Given the description of an element on the screen output the (x, y) to click on. 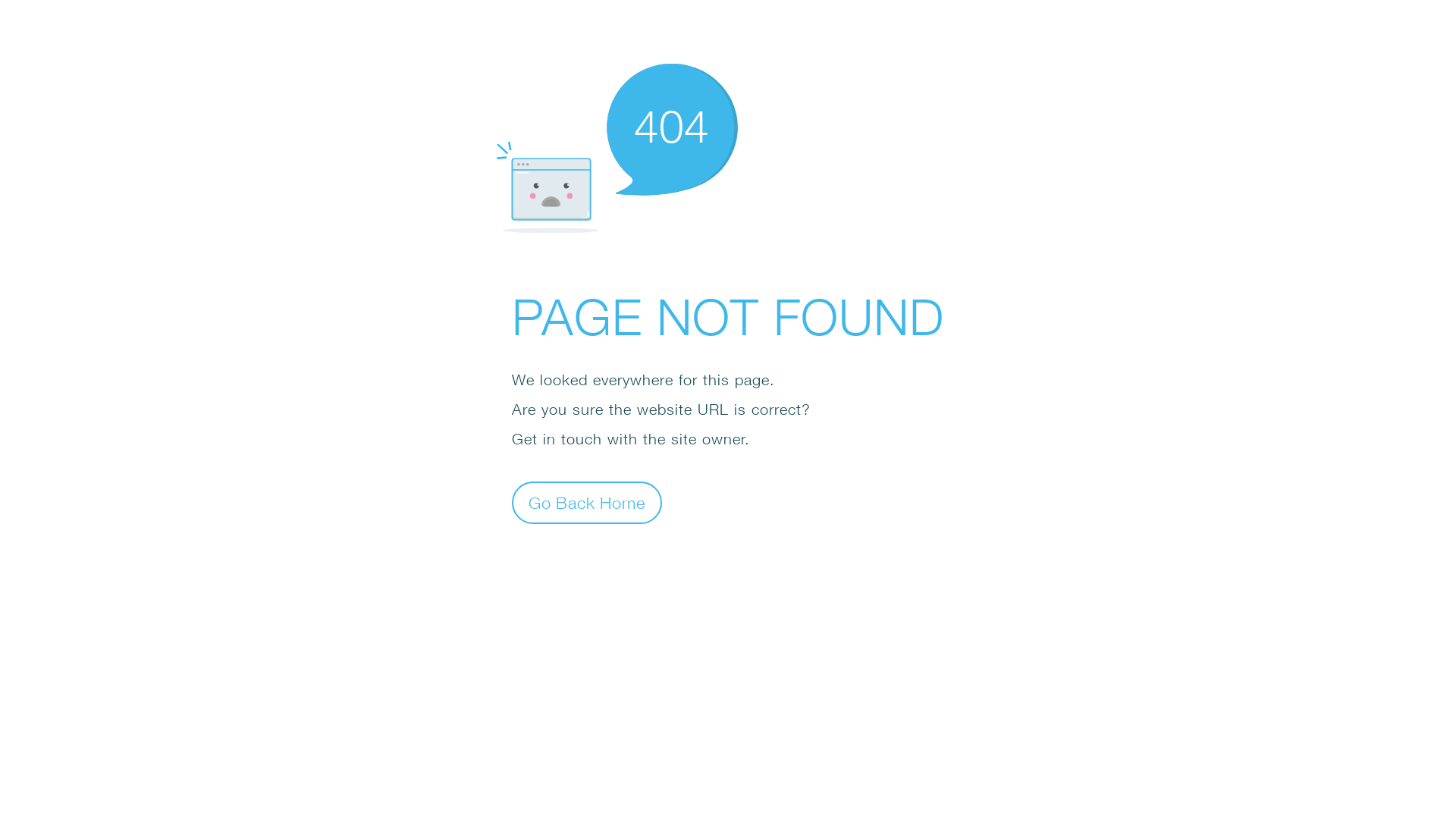
Go Back Home Element type: text (586, 502)
